Given the description of an element on the screen output the (x, y) to click on. 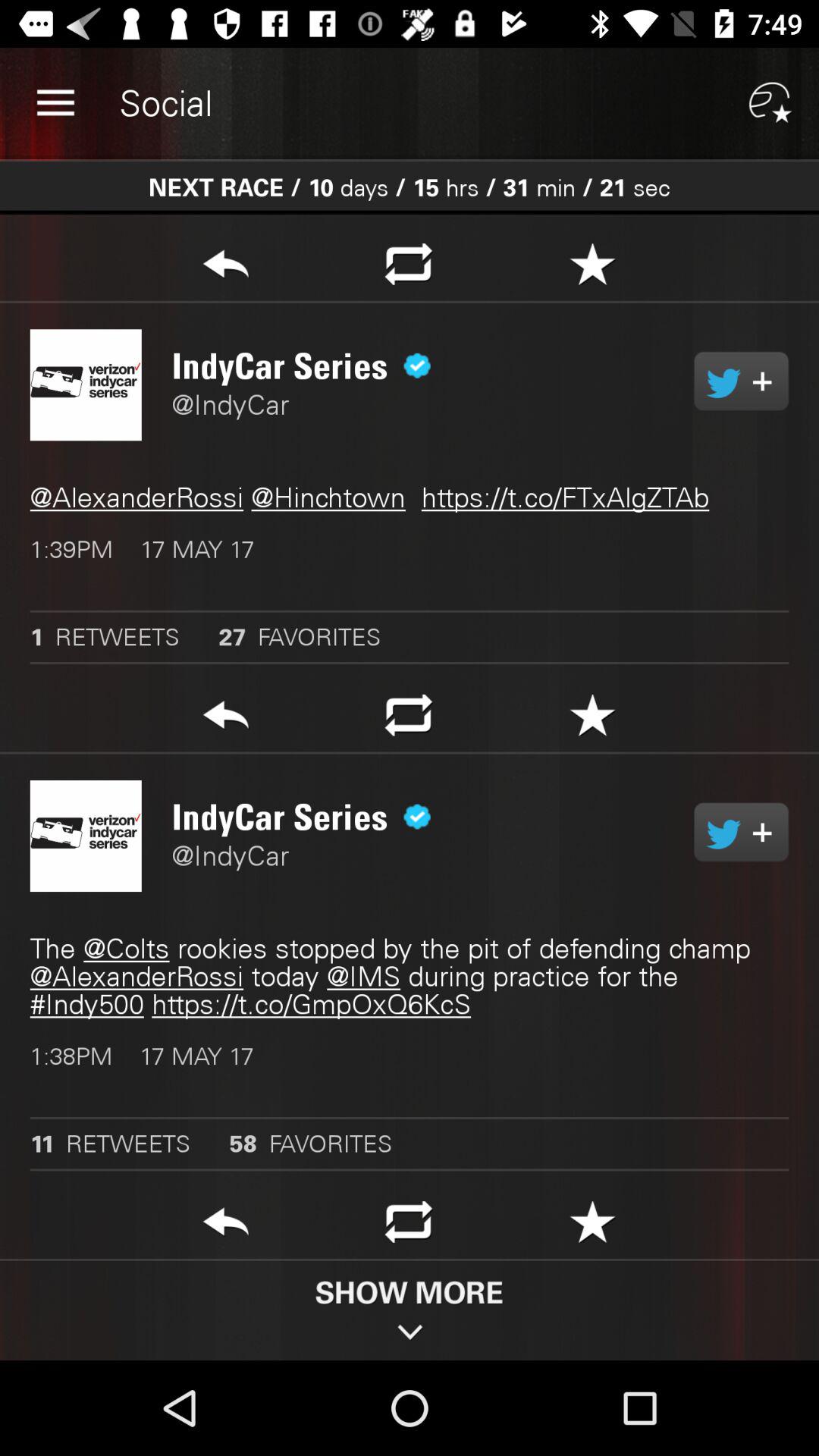
add to favorites (592, 1226)
